Given the description of an element on the screen output the (x, y) to click on. 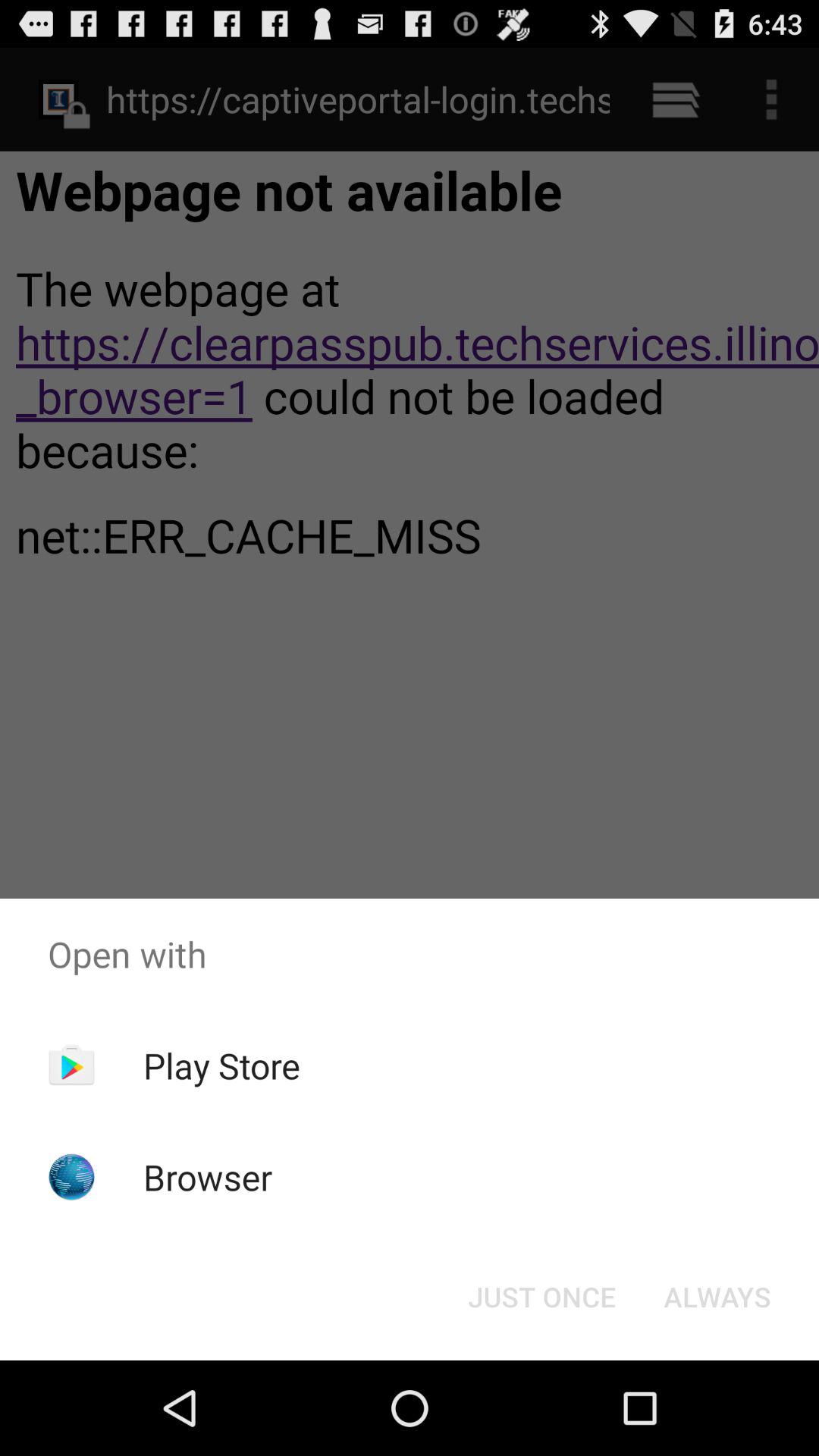
open the item below open with icon (541, 1296)
